Given the description of an element on the screen output the (x, y) to click on. 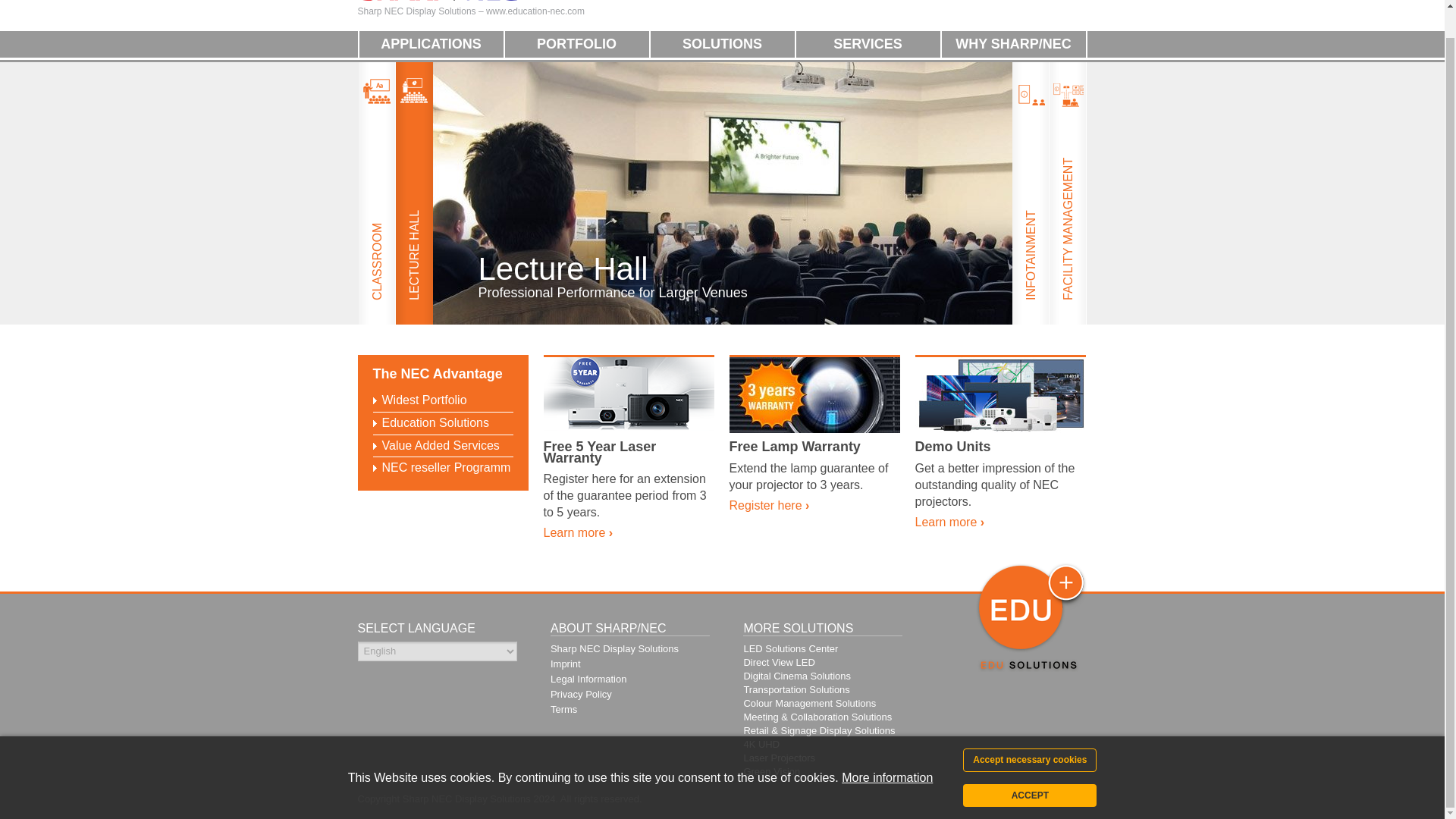
SERVICES (868, 44)
Direct View LED (777, 662)
Green Vision (770, 771)
Register here (769, 504)
NEC reseller Programm (446, 467)
Accept necessary cookies (721, 338)
Transportation Solutions (1029, 791)
4K UHD (795, 689)
Widest Portfolio (760, 744)
